Given the description of an element on the screen output the (x, y) to click on. 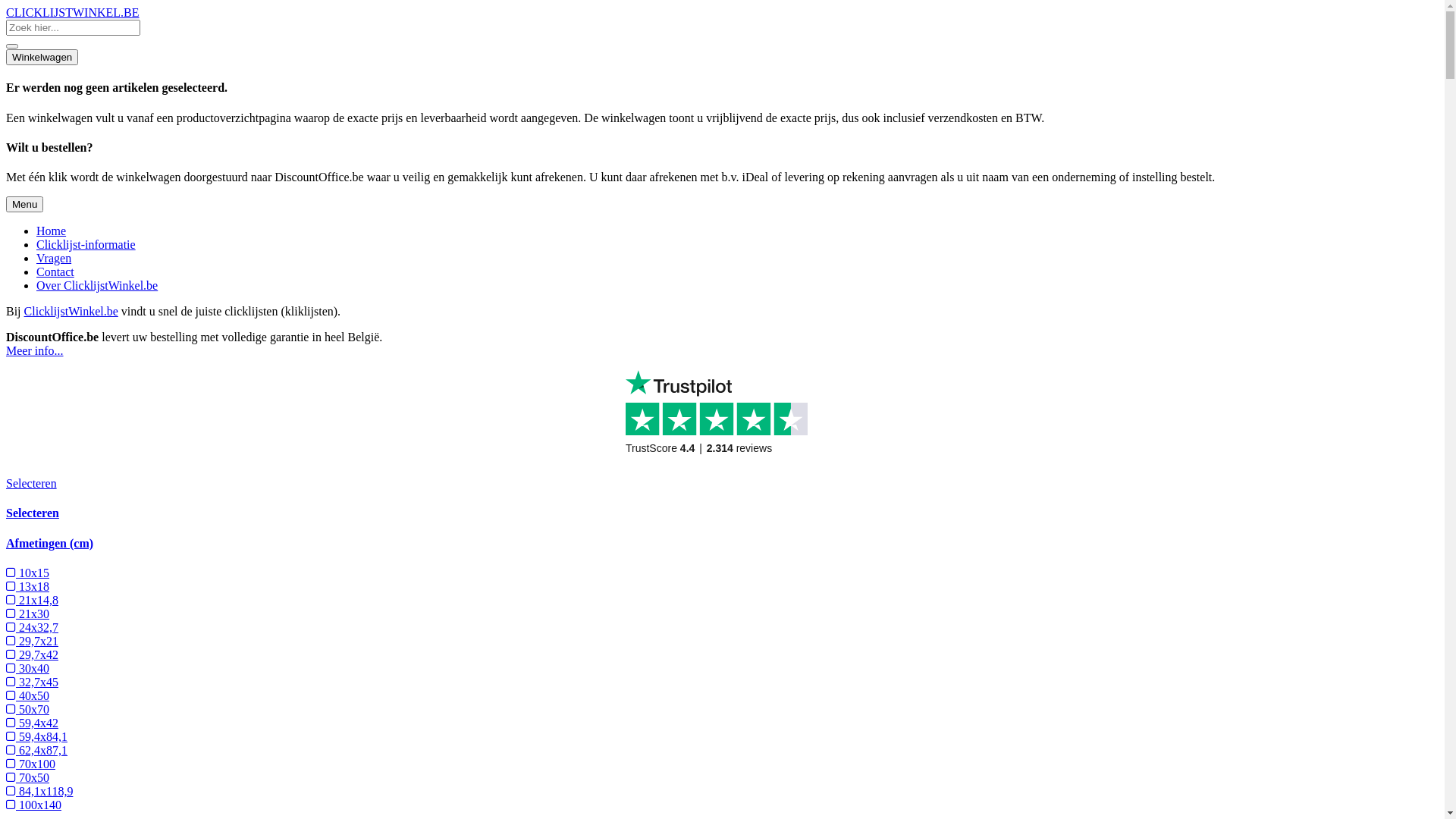
29,7x21 Element type: text (32, 640)
10x15 Element type: text (27, 572)
Menu Element type: text (24, 204)
59,4x42 Element type: text (32, 722)
21x14,8 Element type: text (32, 599)
CLICKLIJSTWINKEL.BE Element type: text (72, 12)
50x70 Element type: text (27, 708)
13x18 Element type: text (27, 586)
Clicklijst-informatie Element type: text (85, 244)
30x40 Element type: text (27, 668)
Over ClicklijstWinkel.be Element type: text (96, 285)
21x30 Element type: text (27, 613)
Selecteren Element type: text (31, 482)
40x50 Element type: text (27, 695)
Contact Element type: text (55, 271)
Customer reviews powered by Trustpilot Element type: hover (722, 417)
Meer info... Element type: text (34, 350)
59,4x84,1 Element type: text (36, 736)
Winkelwagen Element type: text (42, 57)
100x140 Element type: text (33, 804)
32,7x45 Element type: text (32, 681)
24x32,7 Element type: text (32, 627)
62,4x87,1 Element type: text (36, 749)
Vragen Element type: text (53, 257)
Afmetingen (cm) Element type: text (49, 542)
70x50 Element type: text (27, 777)
29,7x42 Element type: text (32, 654)
Selecteren Element type: text (32, 512)
84,1x118,9 Element type: text (39, 790)
Home Element type: text (50, 230)
ClicklijstWinkel.be Element type: text (71, 310)
70x100 Element type: text (30, 763)
